Given the description of an element on the screen output the (x, y) to click on. 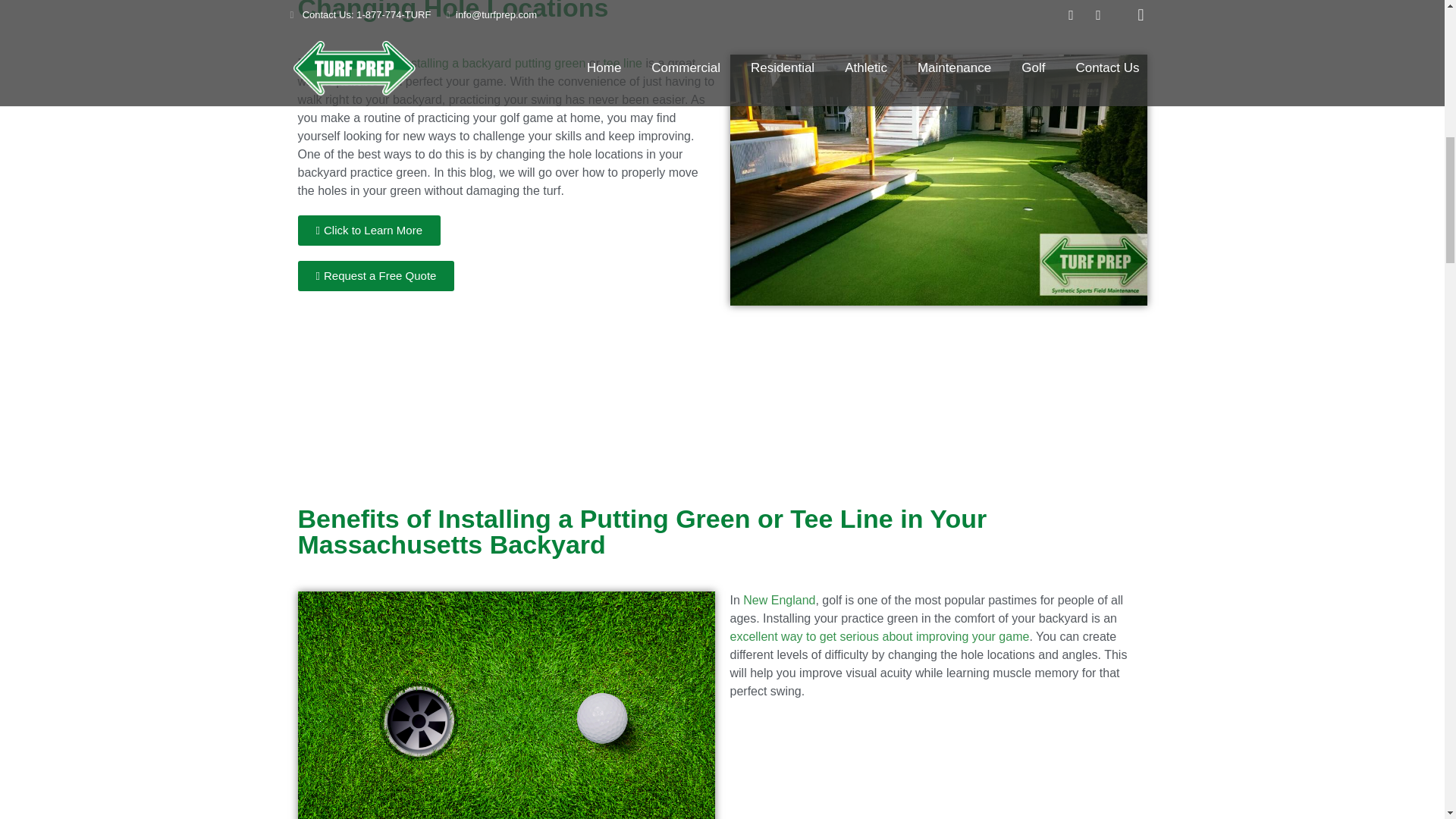
Back to top (1413, 22)
